Given the description of an element on the screen output the (x, y) to click on. 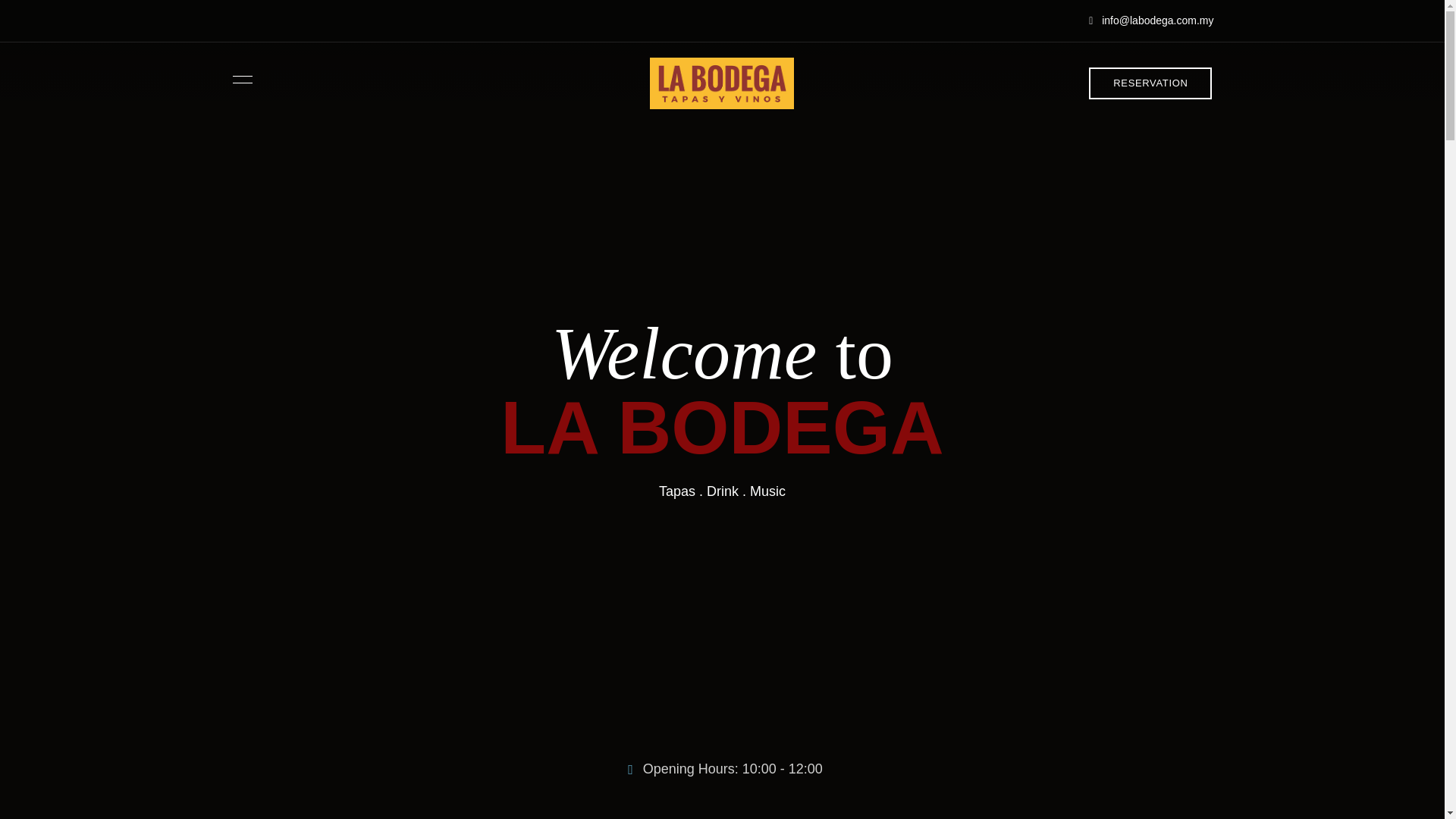
Book A Table Now (722, 636)
Menu (237, 79)
RESERVATION (1150, 83)
